Given the description of an element on the screen output the (x, y) to click on. 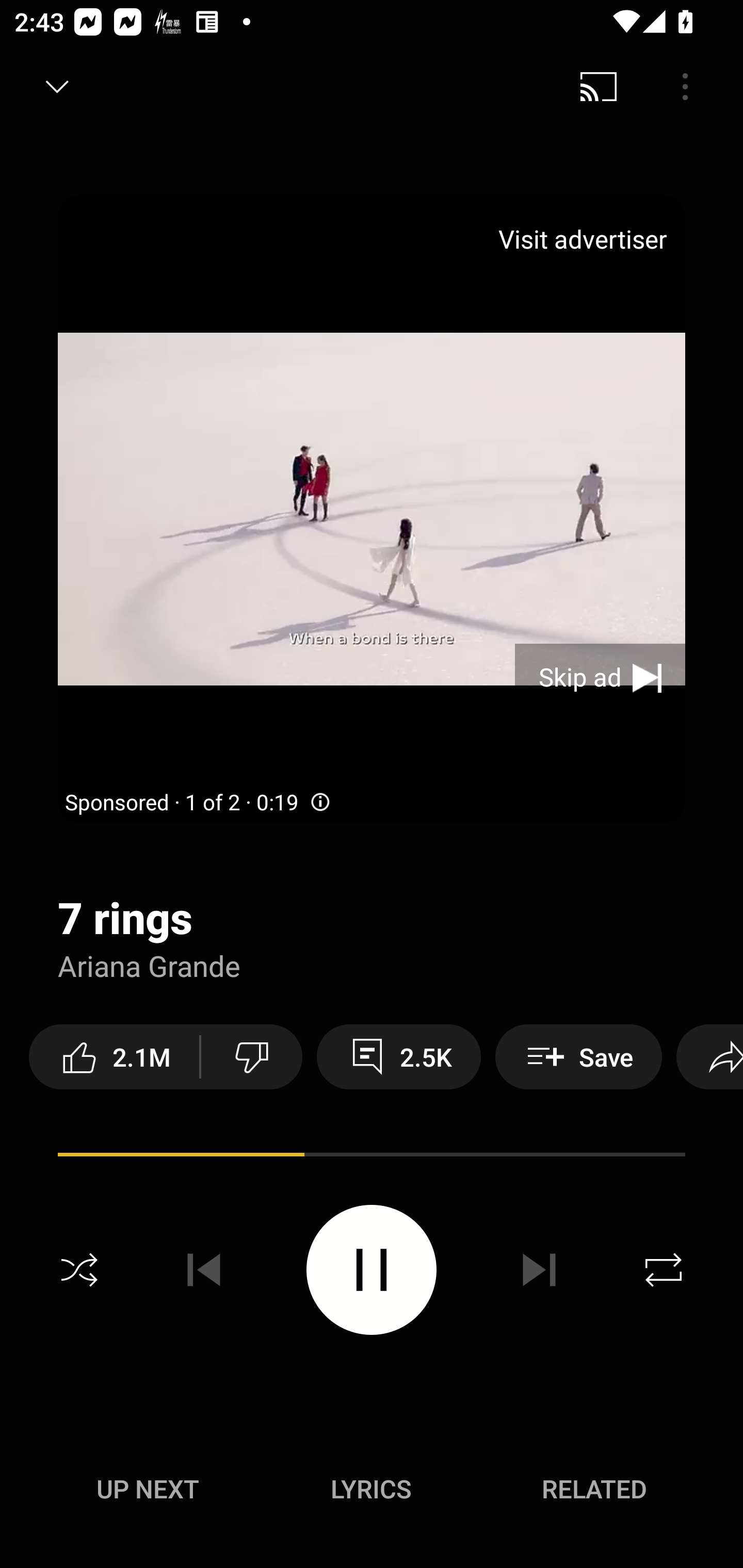
Minimize (57, 86)
Share (605, 86)
Search (692, 86)
Visit advertiser (586, 239)
Skip ad (599, 678)
Sponsored · 1 of 2 · 0:19 (198, 802)
Dislike (251, 1056)
2.5K View 2,580 comments (398, 1056)
Save Save to playlist (578, 1056)
Share (709, 1056)
Action menu (371, 1157)
Pause video (371, 1269)
Shuffle off (79, 1269)
Previous track disabled (203, 1269)
Next track disabled (538, 1269)
Repeat off (663, 1269)
Up next UP NEXT Lyrics LYRICS Related RELATED (371, 1491)
Lyrics LYRICS (370, 1488)
Related RELATED (594, 1488)
